Given the description of an element on the screen output the (x, y) to click on. 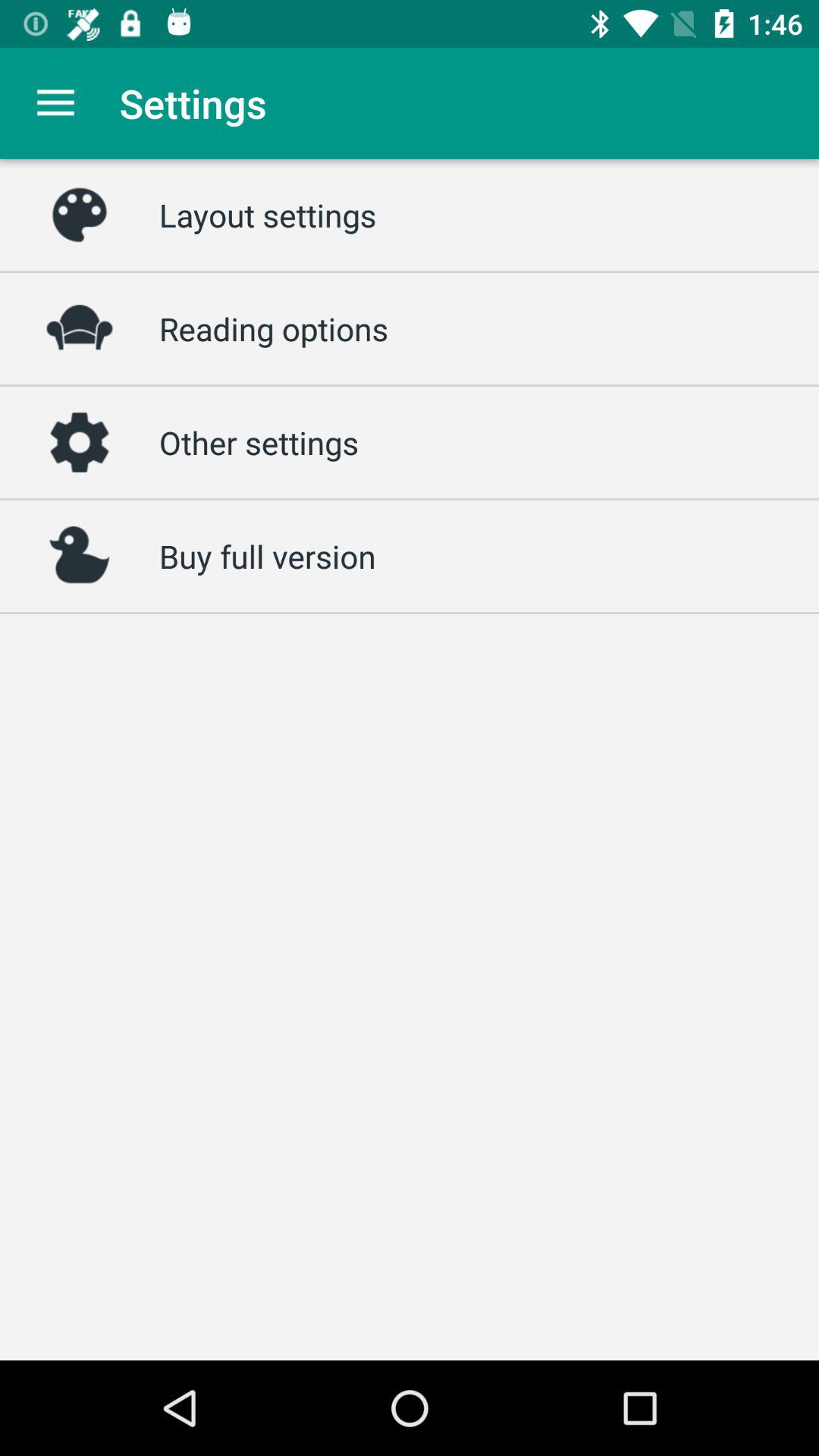
open the icon below the settings icon (267, 214)
